Given the description of an element on the screen output the (x, y) to click on. 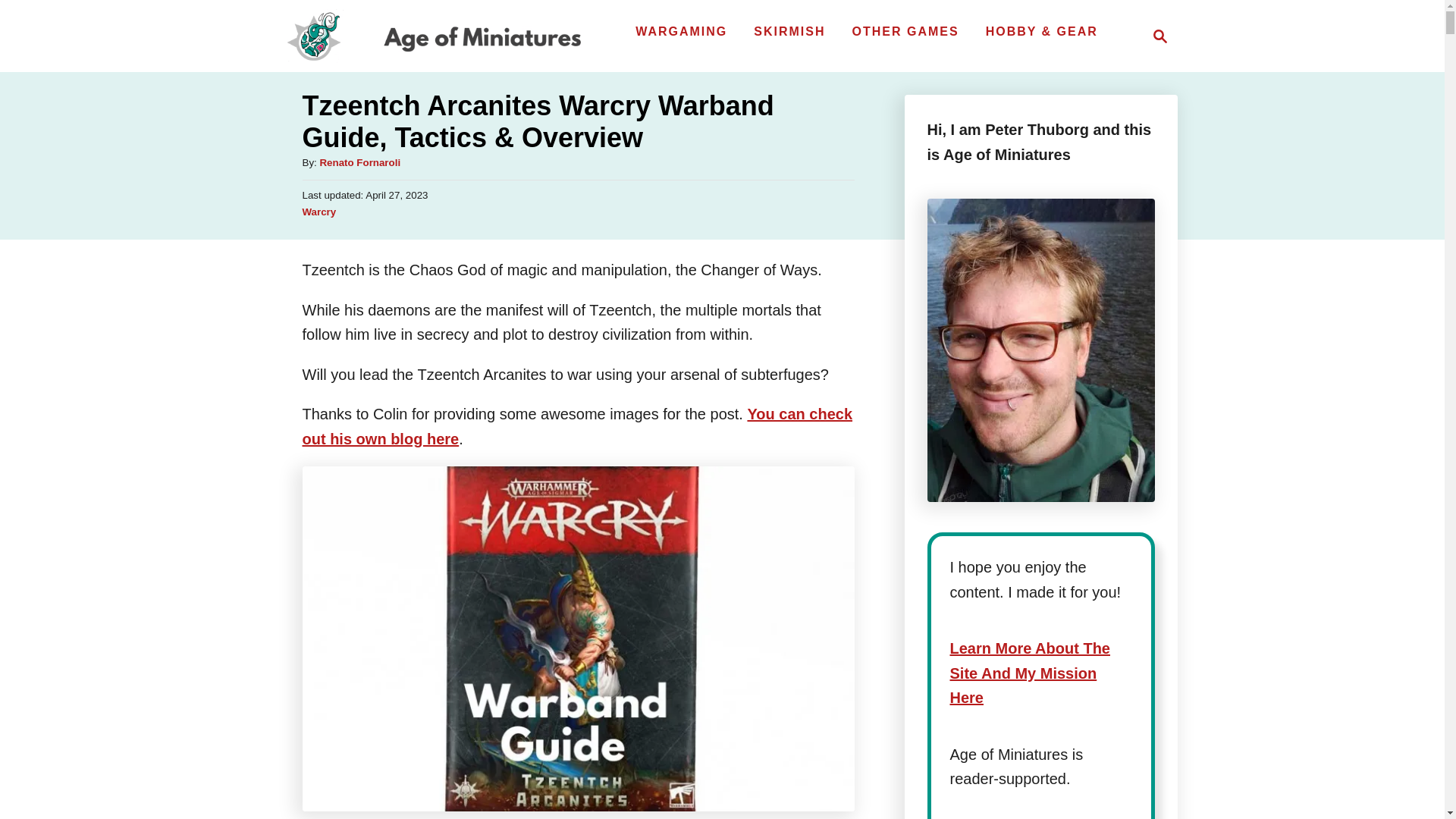
Magnifying Glass (1155, 36)
Renato Fornaroli (1160, 36)
OTHER GAMES (359, 162)
Warcry (905, 31)
SKIRMISH (318, 211)
WARGAMING (788, 31)
Age of Miniatures (681, 31)
You can check out his own blog here (433, 35)
